Given the description of an element on the screen output the (x, y) to click on. 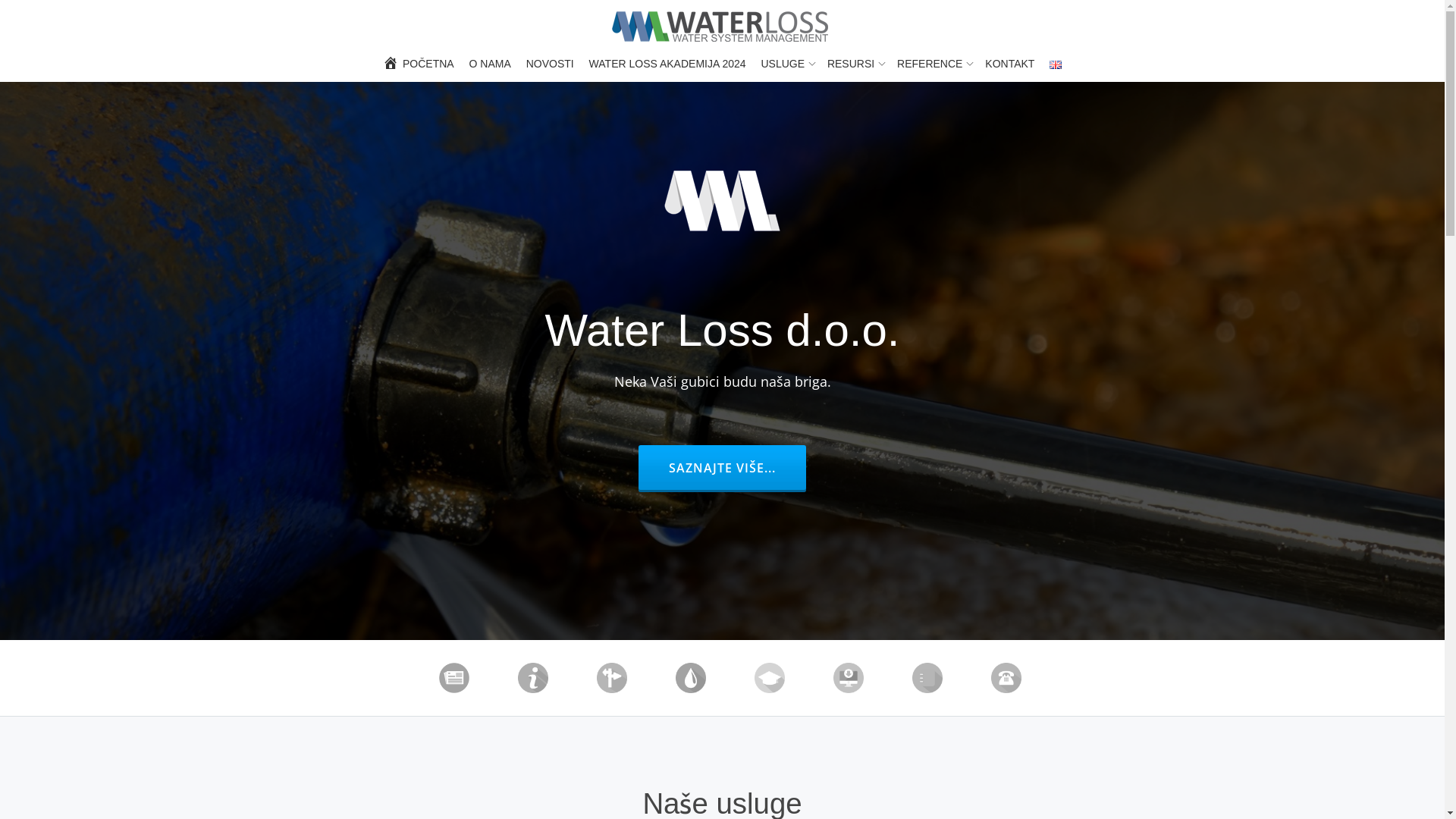
O NAMA Element type: text (490, 63)
REFERENCE Element type: text (933, 63)
Skip to content Element type: text (0, 30)
RESURSI Element type: text (854, 63)
Water Loss d.o.o. Element type: hover (721, 26)
WATER LOSS AKADEMIJA 2024 Element type: text (667, 63)
USLUGE Element type: text (786, 63)
NOVOSTI Element type: text (550, 63)
KONTAKT Element type: text (1009, 63)
English Element type: hover (1055, 64)
